Given the description of an element on the screen output the (x, y) to click on. 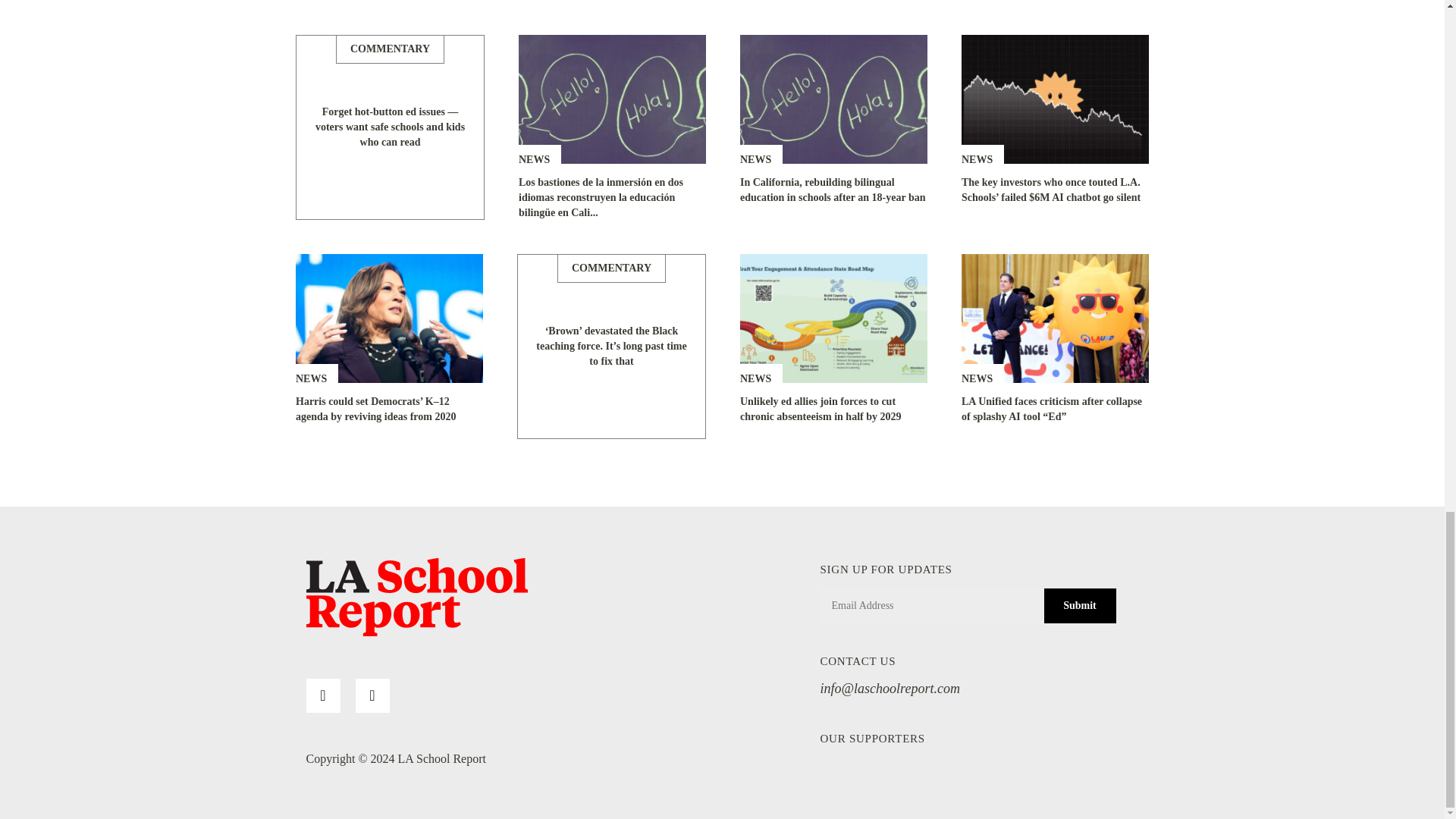
Submit (1079, 605)
